Given the description of an element on the screen output the (x, y) to click on. 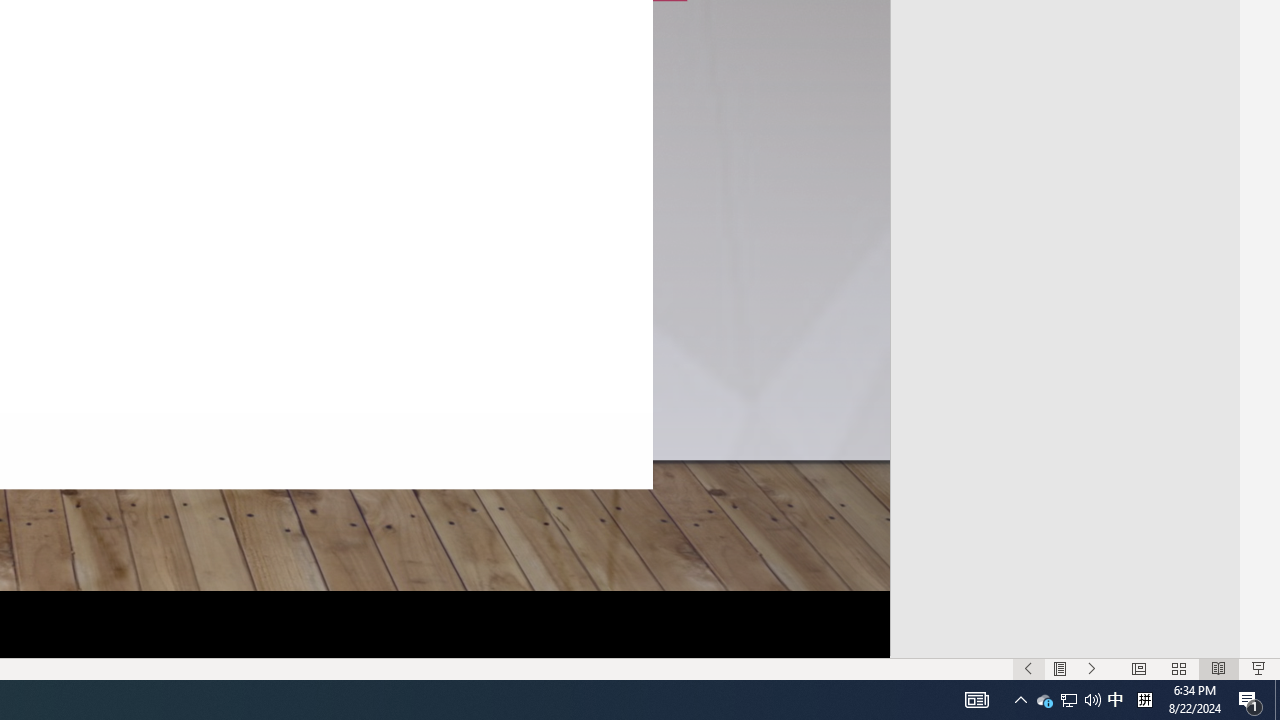
Slide Show Next On (1092, 668)
Slide Show Previous On (1028, 668)
Menu On (1060, 668)
